Given the description of an element on the screen output the (x, y) to click on. 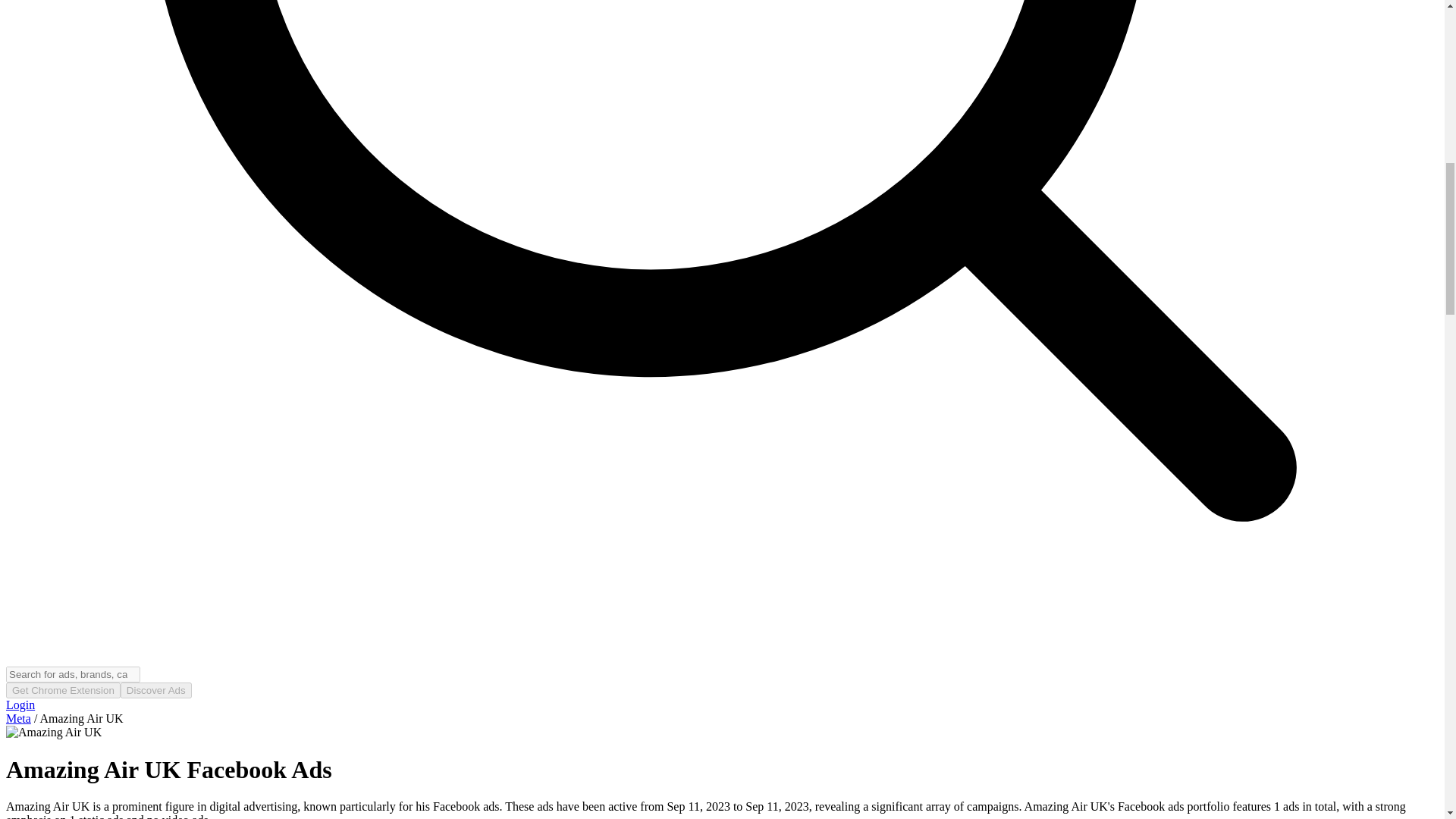
Get Chrome Extension (62, 690)
Discover Ads (156, 689)
Meta (17, 717)
Get Chrome Extension (62, 689)
Login (19, 704)
Discover Ads (156, 690)
